Given the description of an element on the screen output the (x, y) to click on. 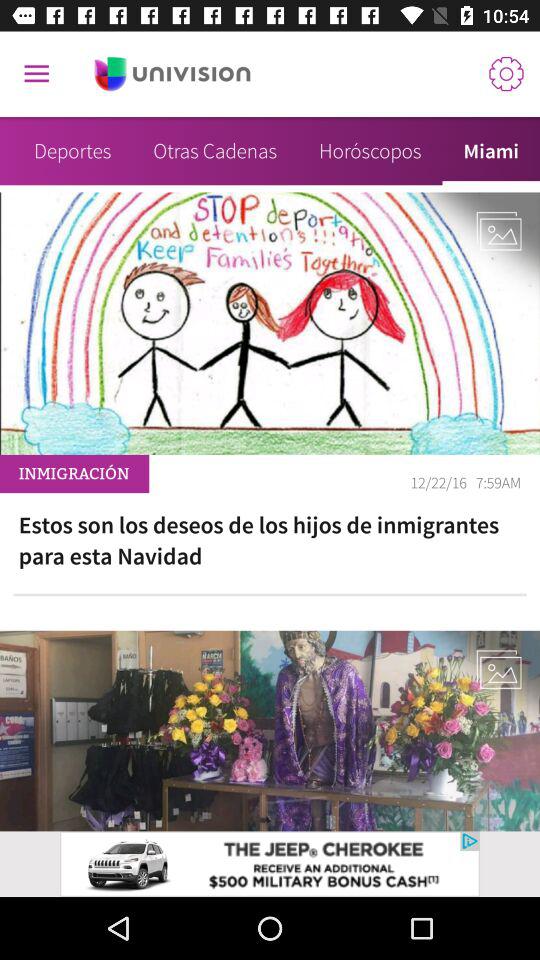
go to advertisement (270, 864)
